Given the description of an element on the screen output the (x, y) to click on. 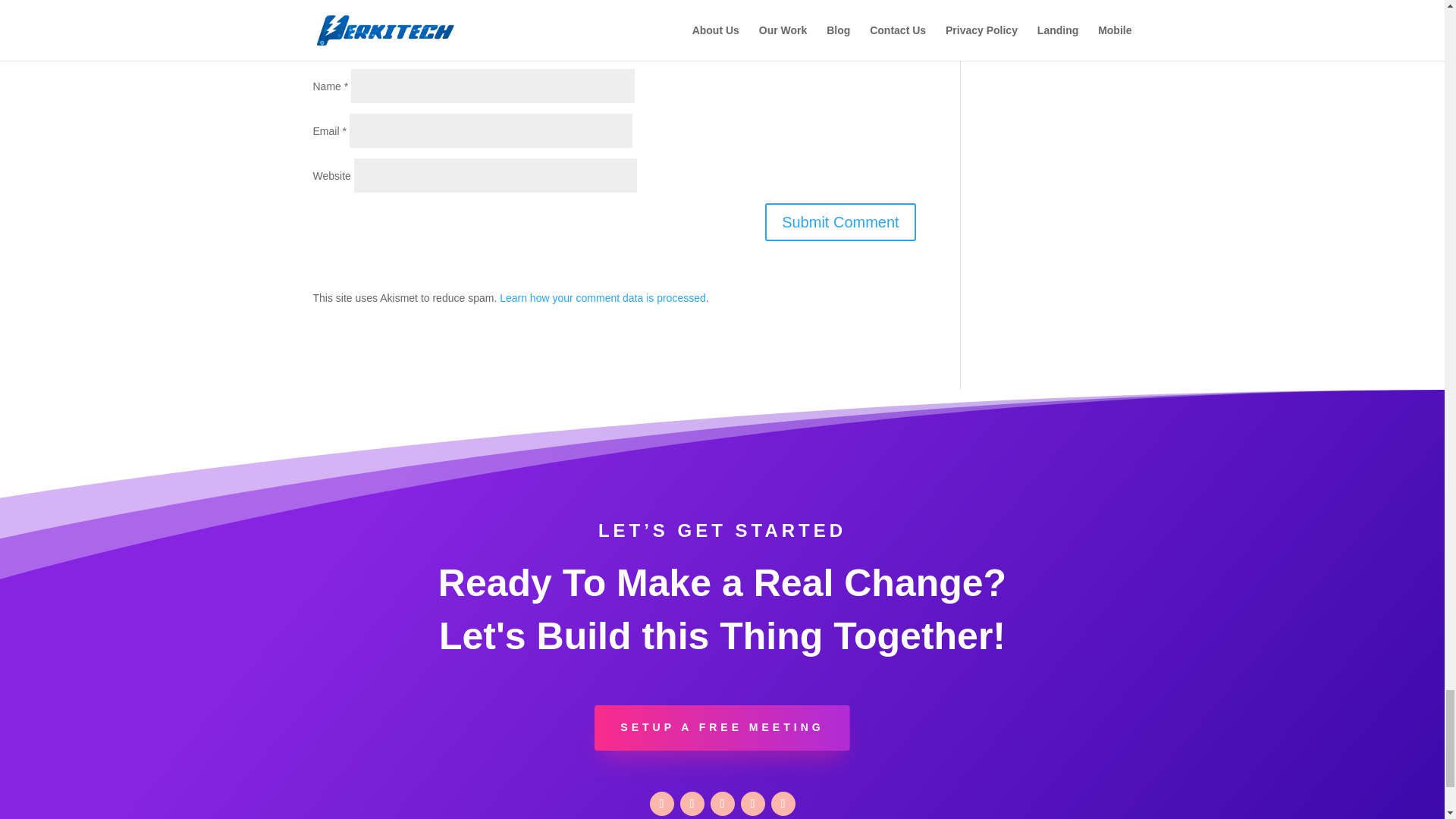
Submit Comment (840, 221)
Follow on LinkedIn (721, 803)
Follow on Instagram (751, 803)
Learn how your comment data is processed (602, 297)
Follow on Facebook (660, 803)
Follow on Youtube (782, 803)
Follow on X (691, 803)
Submit Comment (840, 221)
